Given the description of an element on the screen output the (x, y) to click on. 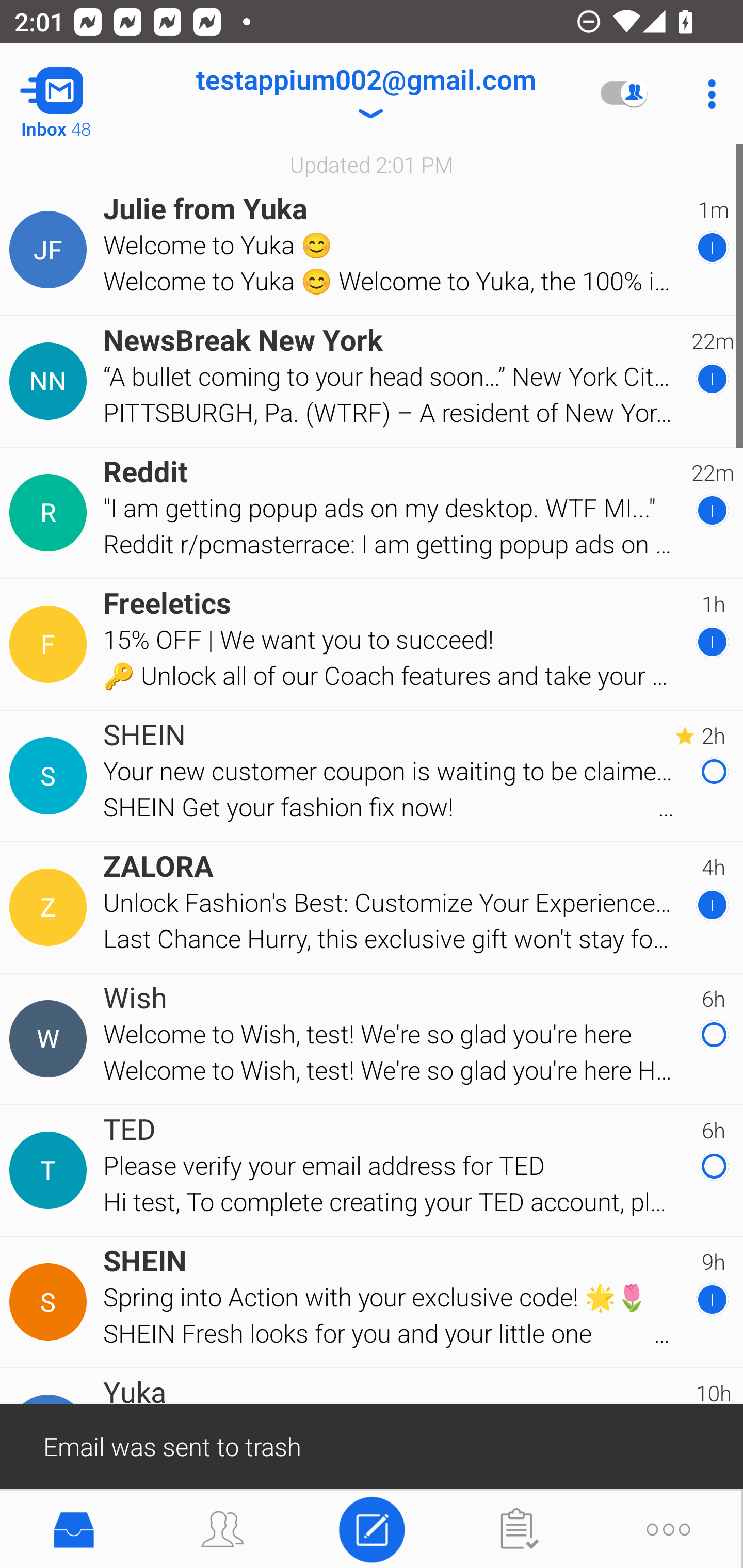
Navigate up (81, 93)
testappium002@gmail.com (365, 93)
More Options (706, 93)
Updated 2:01 PM (371, 164)
Contact Details (50, 250)
Contact Details (50, 381)
Contact Details (50, 513)
Contact Details (50, 644)
Contact Details (50, 776)
Contact Details (50, 907)
Contact Details (50, 1038)
Contact Details (50, 1170)
Contact Details (50, 1302)
Email was sent to trash (371, 1445)
